Given the description of an element on the screen output the (x, y) to click on. 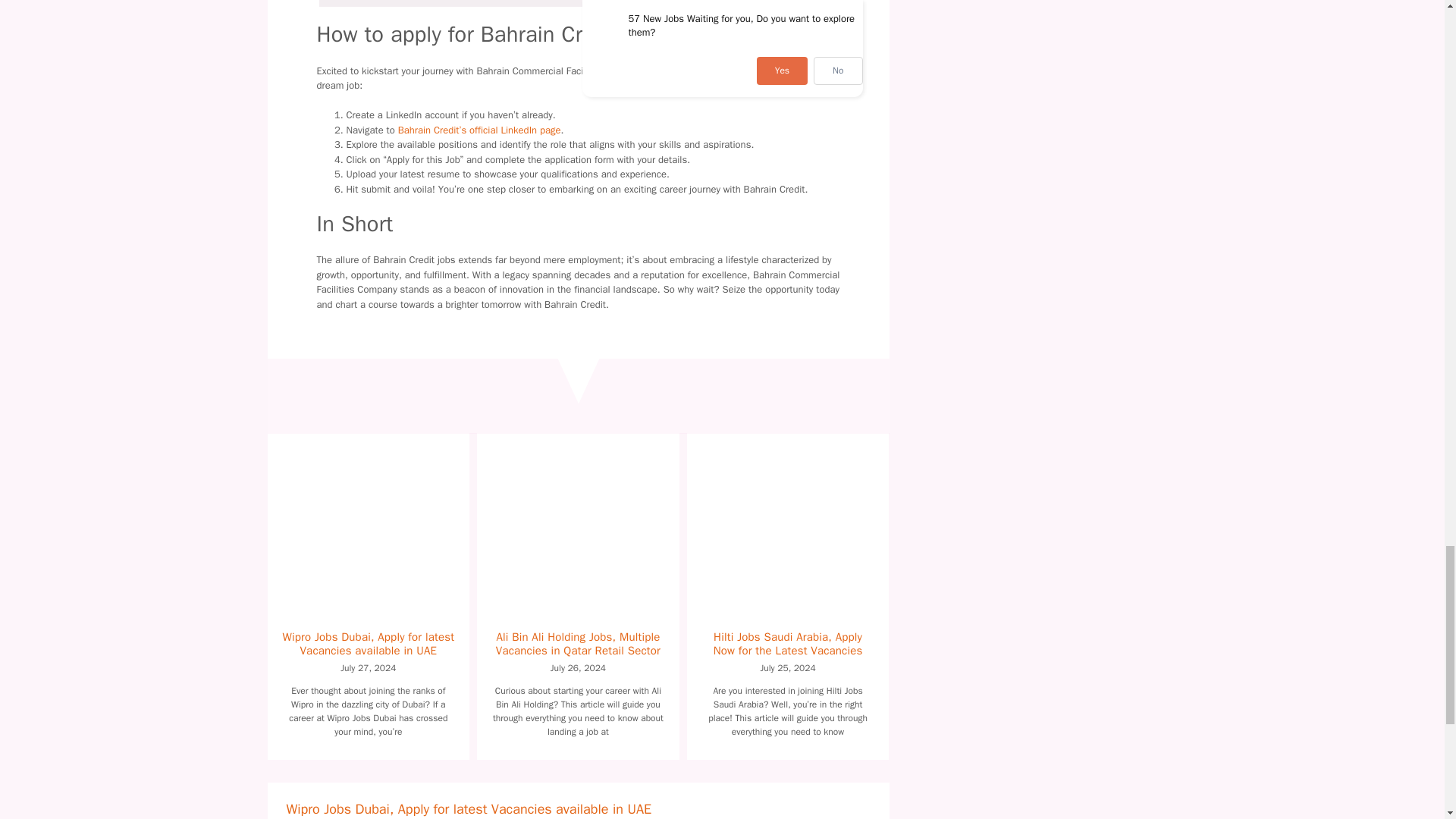
Hilti Jobs Saudi Arabia, Apply Now for the Latest Vacancies (788, 643)
